Given the description of an element on the screen output the (x, y) to click on. 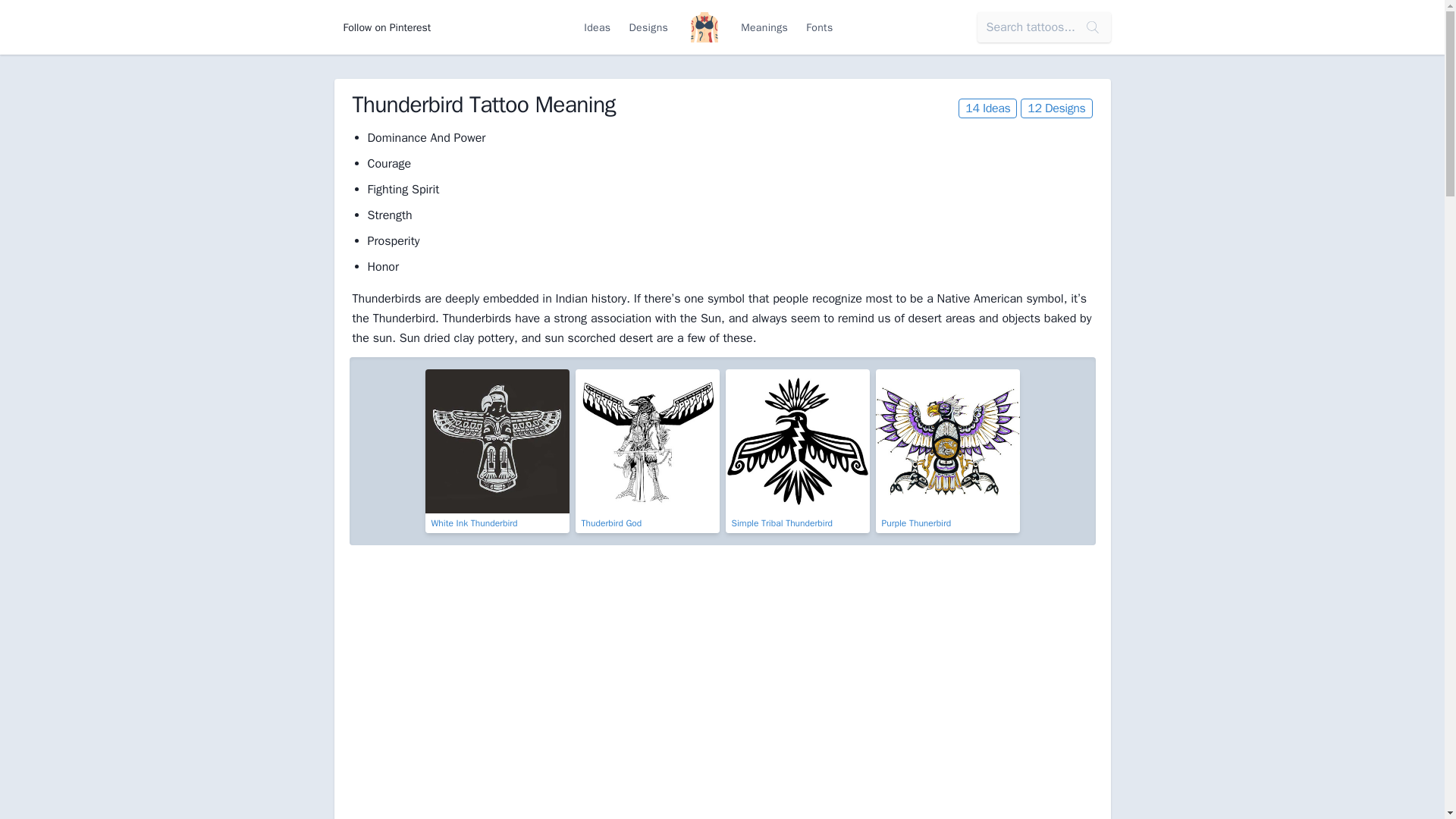
Follow on Pinterest (386, 27)
Fonts (818, 27)
Designs (648, 27)
Ideas (597, 27)
14 Ideas (987, 107)
Meanings (764, 27)
12 Designs (1056, 107)
